Given the description of an element on the screen output the (x, y) to click on. 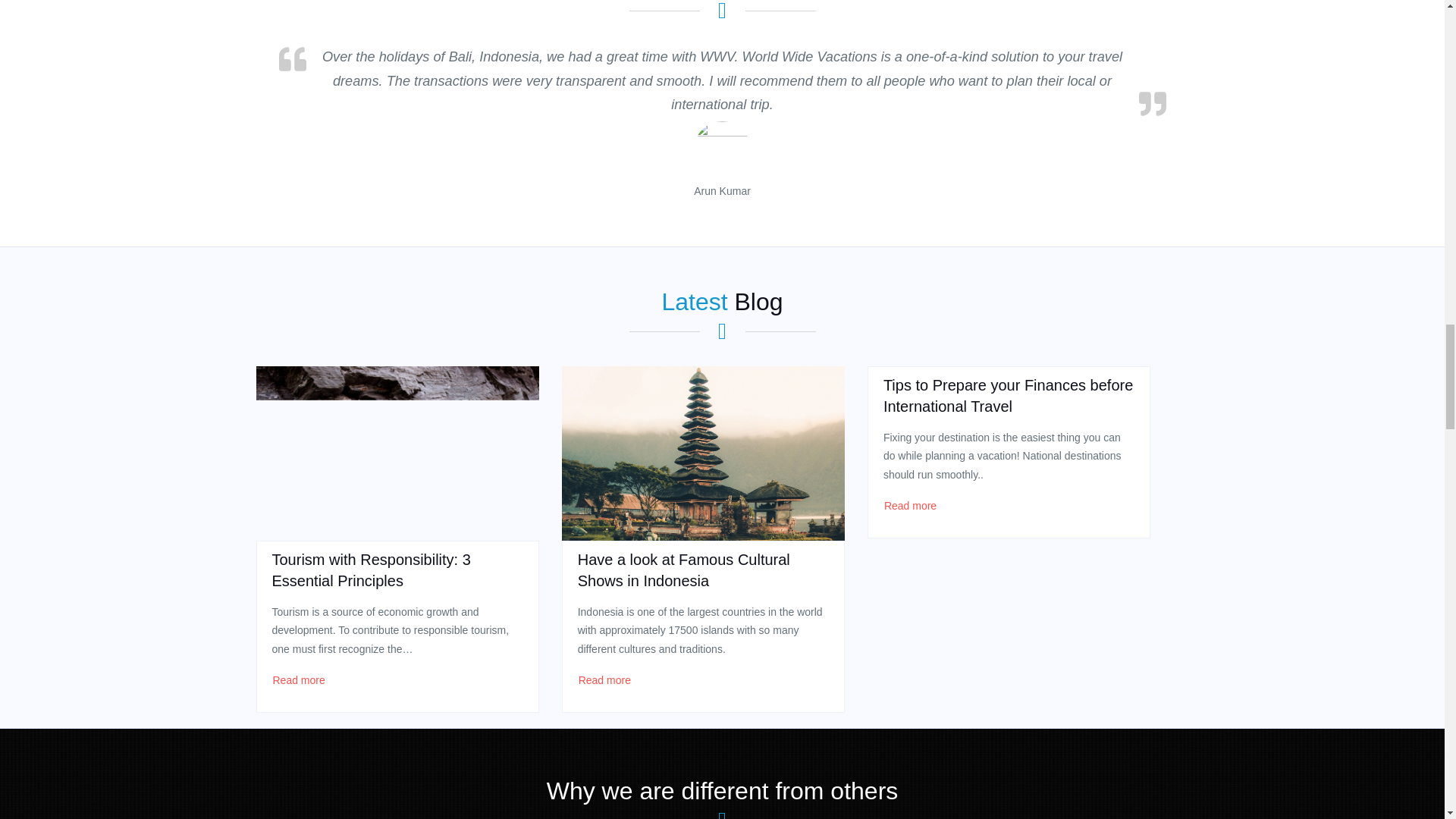
Have a look at Famous Cultural Shows in Indonesia (703, 453)
Read more (604, 679)
Read more (297, 679)
Tourism with Responsibility: 3 Essential Principles (397, 453)
Read more (910, 504)
